Given the description of an element on the screen output the (x, y) to click on. 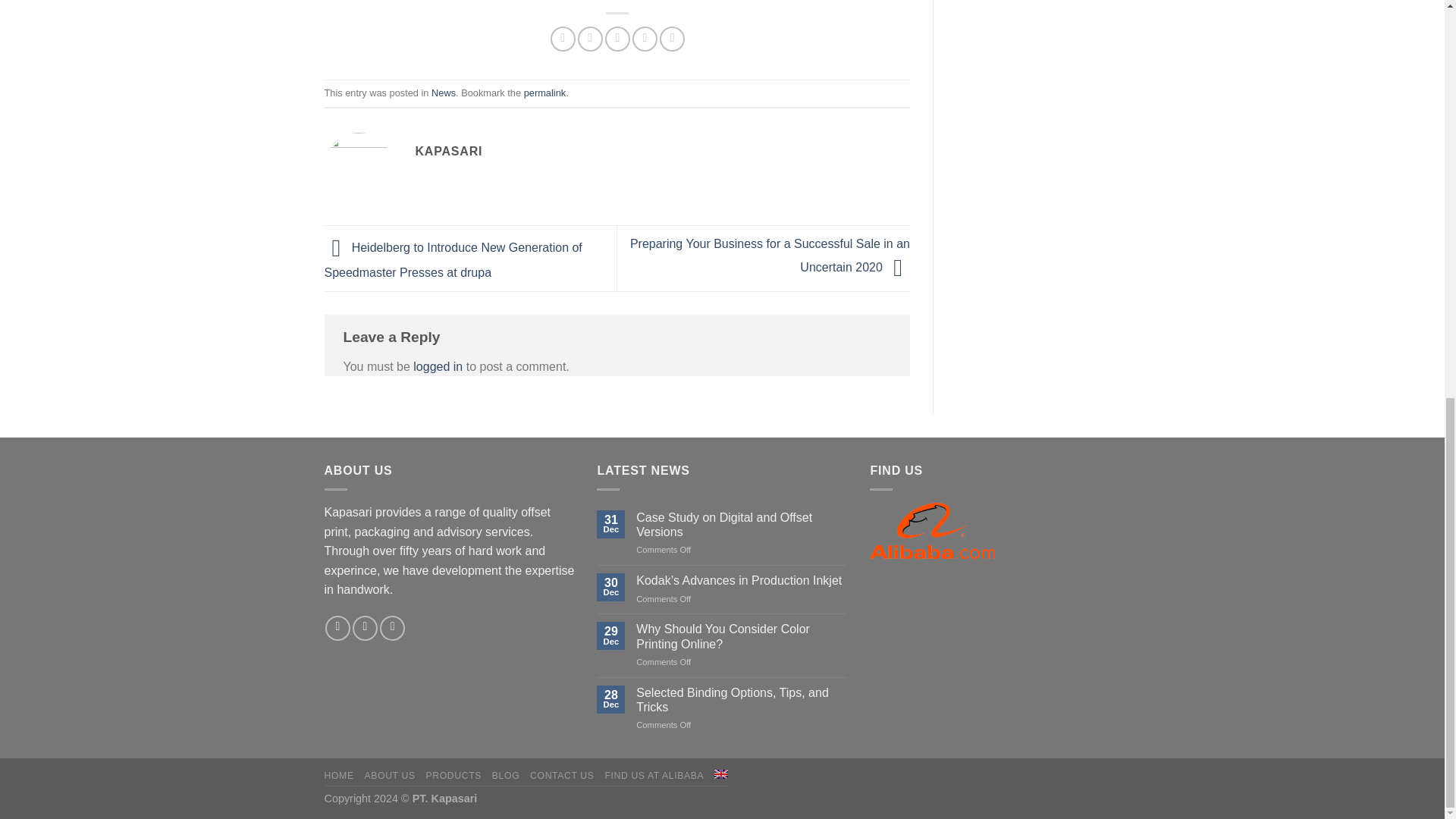
Pin on Pinterest (644, 38)
Email to a Friend (617, 38)
Share on LinkedIn (671, 38)
Permalink to Tips to Improve Your Website (545, 92)
Share on Facebook (562, 38)
Send us an email (337, 627)
Call us (364, 627)
Share on Twitter (590, 38)
